Given the description of an element on the screen output the (x, y) to click on. 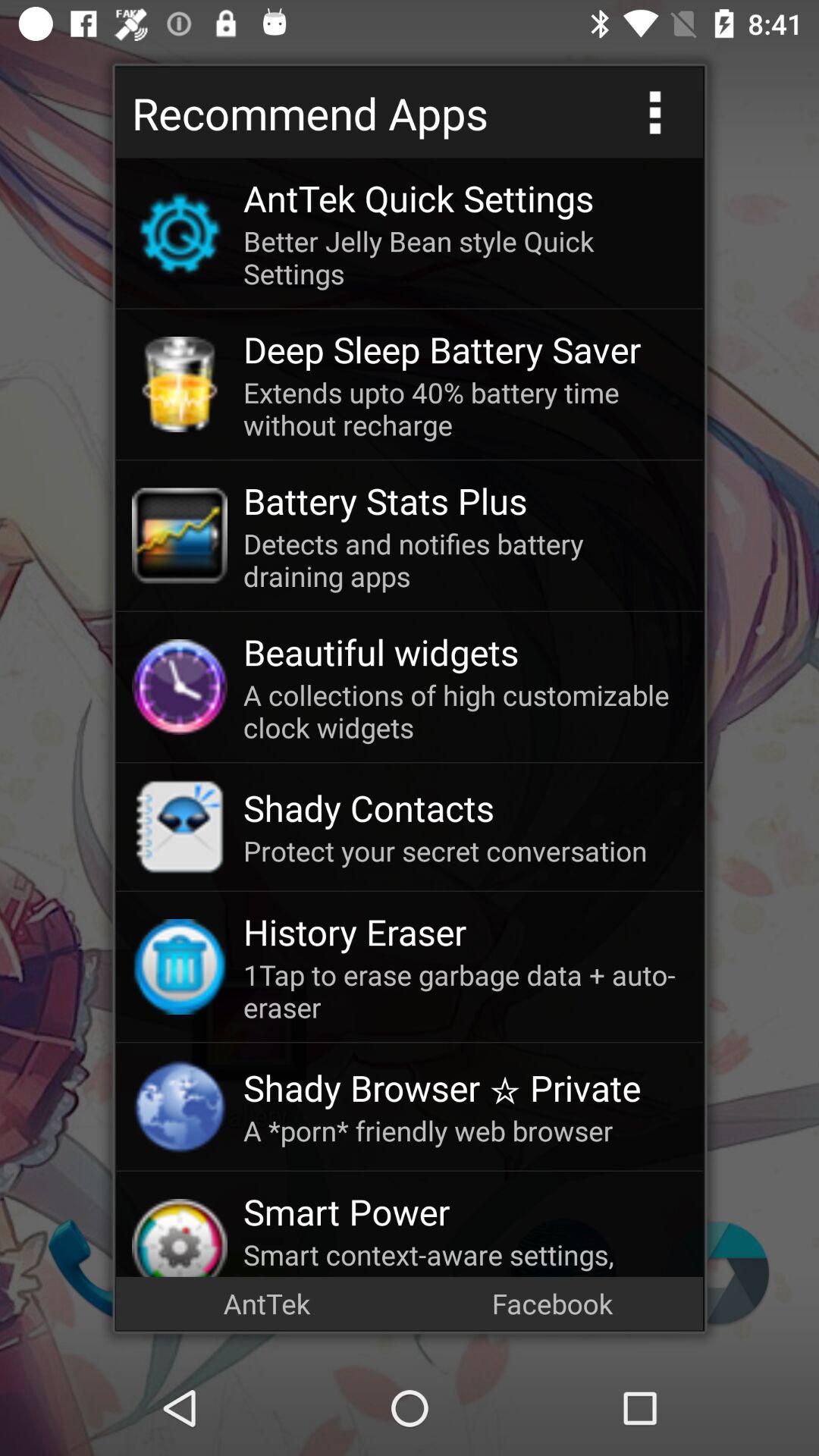
turn on the app above the smart context aware item (465, 1211)
